Given the description of an element on the screen output the (x, y) to click on. 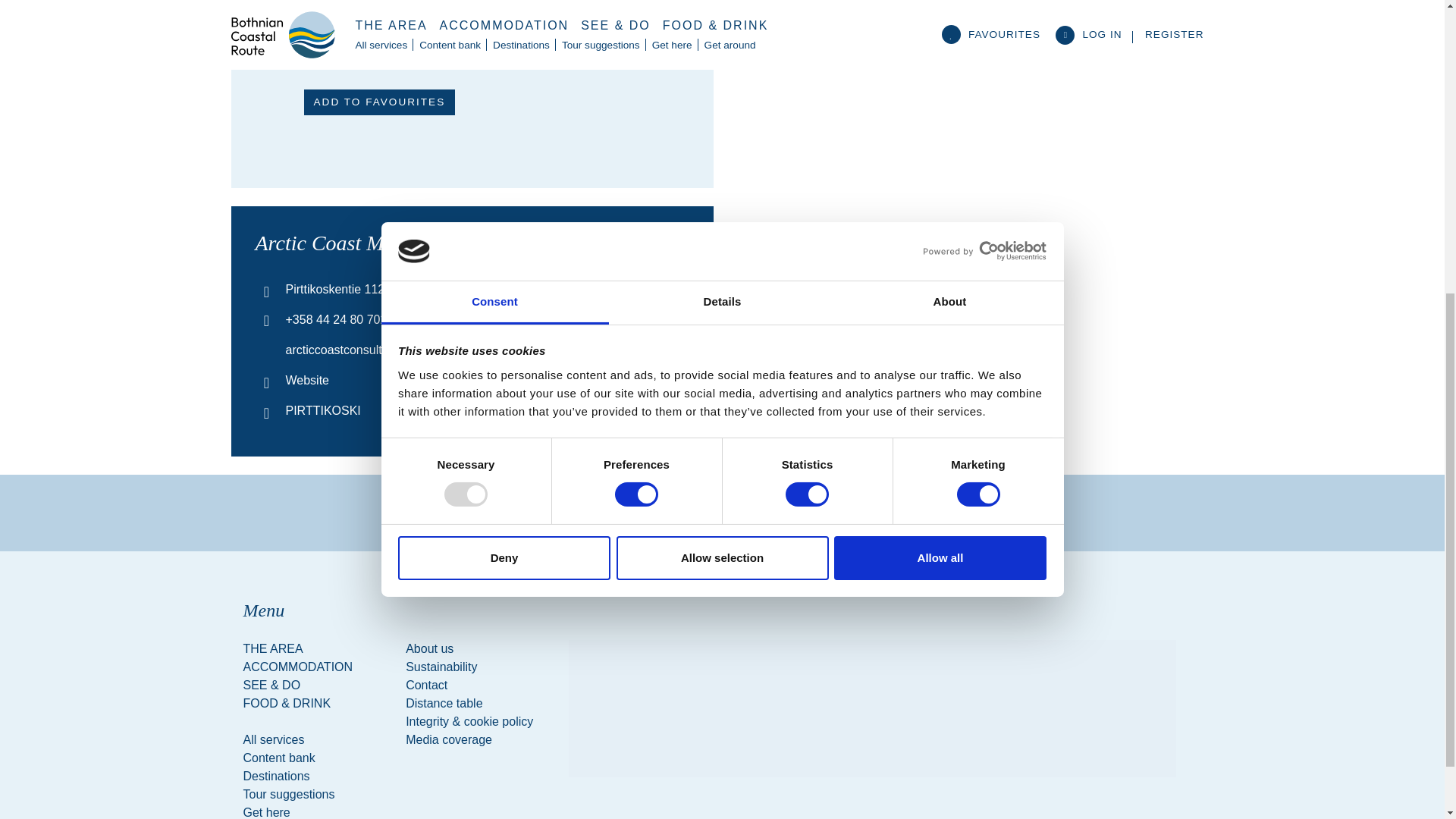
Accommodation (315, 667)
The Area (315, 648)
Deny (503, 67)
Allow all (940, 67)
Allow selection (721, 67)
